Given the description of an element on the screen output the (x, y) to click on. 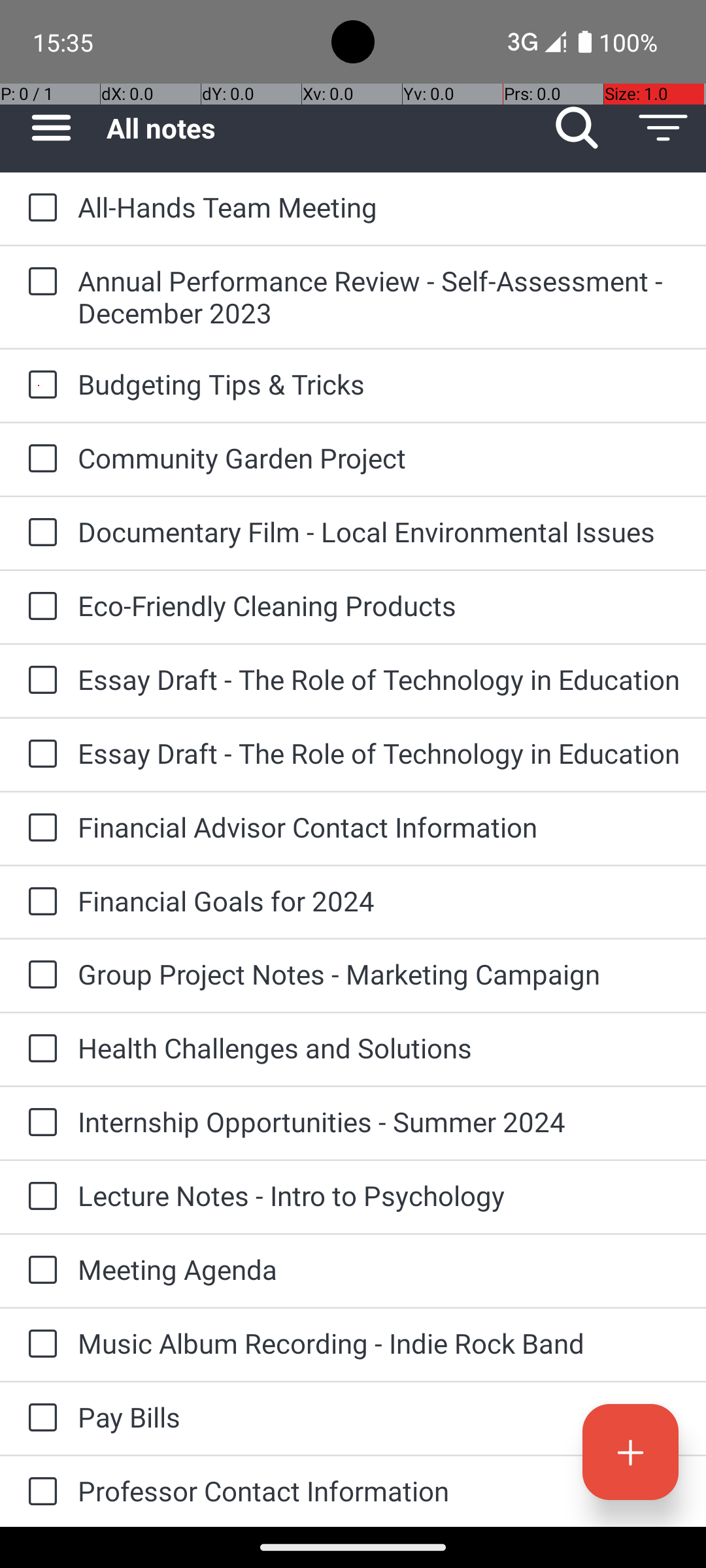
Sidebar Element type: android.widget.Button (44, 127)
All notes Element type: android.widget.TextView (320, 127)
Sort notes by Element type: android.widget.Button (663, 127)
Add new, collapsed Element type: android.widget.Button (630, 1452)
 Element type: android.widget.TextView (51, 127)
 Element type: android.widget.TextView (576, 127)
 Element type: android.widget.TextView (663, 127)
 Element type: android.widget.TextView (630, 1451)
to-do: All-Hands Team Meeting Element type: android.widget.CheckBox (38, 208)
All-Hands Team Meeting Element type: android.widget.TextView (378, 206)
to-do: Annual Performance Review - Self-Assessment - December 2023 Element type: android.widget.CheckBox (38, 282)
Annual Performance Review - Self-Assessment - December 2023 Element type: android.widget.TextView (378, 296)
to-do: Budgeting Tips & Tricks Element type: android.widget.CheckBox (38, 385)
Budgeting Tips & Tricks Element type: android.widget.TextView (378, 383)
to-do: Community Garden Project Element type: android.widget.CheckBox (38, 459)
Community Garden Project Element type: android.widget.TextView (378, 457)
to-do: Documentary Film - Local Environmental Issues Element type: android.widget.CheckBox (38, 533)
Documentary Film - Local Environmental Issues Element type: android.widget.TextView (378, 531)
to-do: Eco-Friendly Cleaning Products Element type: android.widget.CheckBox (38, 606)
Eco-Friendly Cleaning Products Element type: android.widget.TextView (378, 604)
to-do: Essay Draft - The Role of Technology in Education Element type: android.widget.CheckBox (38, 680)
Essay Draft - The Role of Technology in Education Element type: android.widget.TextView (378, 678)
to-do: Financial Advisor Contact Information Element type: android.widget.CheckBox (38, 828)
Financial Advisor Contact Information Element type: android.widget.TextView (378, 826)
to-do: Financial Goals for 2024 Element type: android.widget.CheckBox (38, 902)
Financial Goals for 2024 Element type: android.widget.TextView (378, 900)
to-do: Group Project Notes - Marketing Campaign Element type: android.widget.CheckBox (38, 975)
Group Project Notes - Marketing Campaign Element type: android.widget.TextView (378, 973)
to-do: Health Challenges and Solutions Element type: android.widget.CheckBox (38, 1049)
Health Challenges and Solutions Element type: android.widget.TextView (378, 1047)
to-do: Internship Opportunities - Summer 2024 Element type: android.widget.CheckBox (38, 1123)
Internship Opportunities - Summer 2024 Element type: android.widget.TextView (378, 1121)
to-do: Lecture Notes - Intro to Psychology Element type: android.widget.CheckBox (38, 1196)
Lecture Notes - Intro to Psychology Element type: android.widget.TextView (378, 1194)
to-do: Meeting Agenda Element type: android.widget.CheckBox (38, 1270)
Meeting Agenda Element type: android.widget.TextView (378, 1268)
to-do: Music Album Recording - Indie Rock Band Element type: android.widget.CheckBox (38, 1344)
Music Album Recording - Indie Rock Band Element type: android.widget.TextView (378, 1342)
to-do: Pay Bills Element type: android.widget.CheckBox (38, 1418)
Pay Bills Element type: android.widget.TextView (378, 1416)
to-do: Professor Contact Information Element type: android.widget.CheckBox (38, 1491)
Professor Contact Information Element type: android.widget.TextView (378, 1490)
 Element type: android.widget.TextView (42, 208)
